Given the description of an element on the screen output the (x, y) to click on. 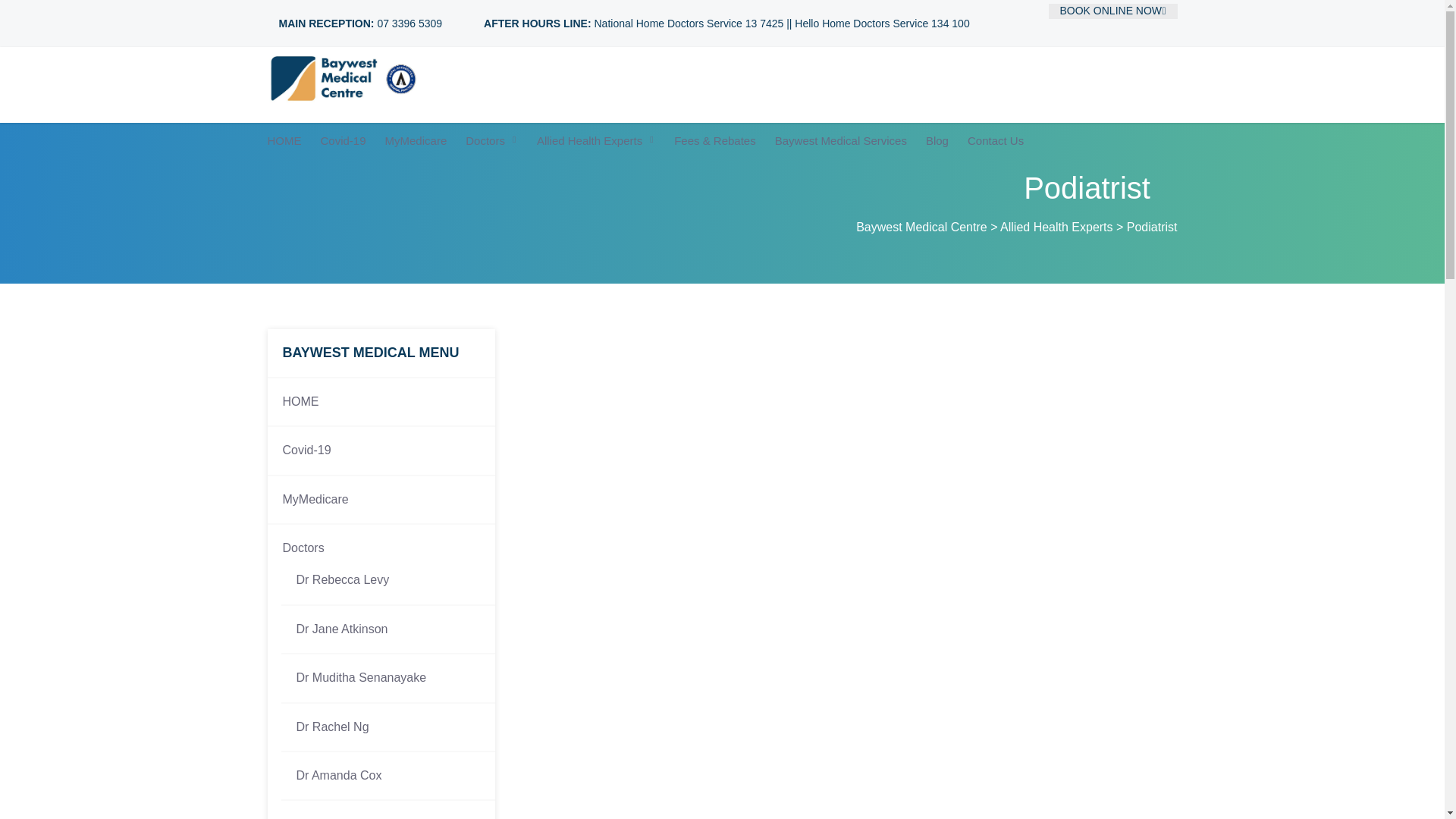
Baywest Medical Services (840, 141)
MyMedicare (380, 499)
Covid-19 (380, 450)
Hello Home Doctors Service 134 100 (881, 23)
National Home Doctors Service 13 7425 (688, 23)
Baywest Medical Centre (921, 226)
Allied Health Experts (596, 141)
HOME (380, 401)
Go to Allied Health Experts. (1056, 226)
Doctors (380, 540)
Allied Health Experts (1056, 226)
BOOK ONLINE NOW (1112, 11)
07 3396 5309 (408, 23)
Go to Baywest Medical Centre. (921, 226)
